Given the description of an element on the screen output the (x, y) to click on. 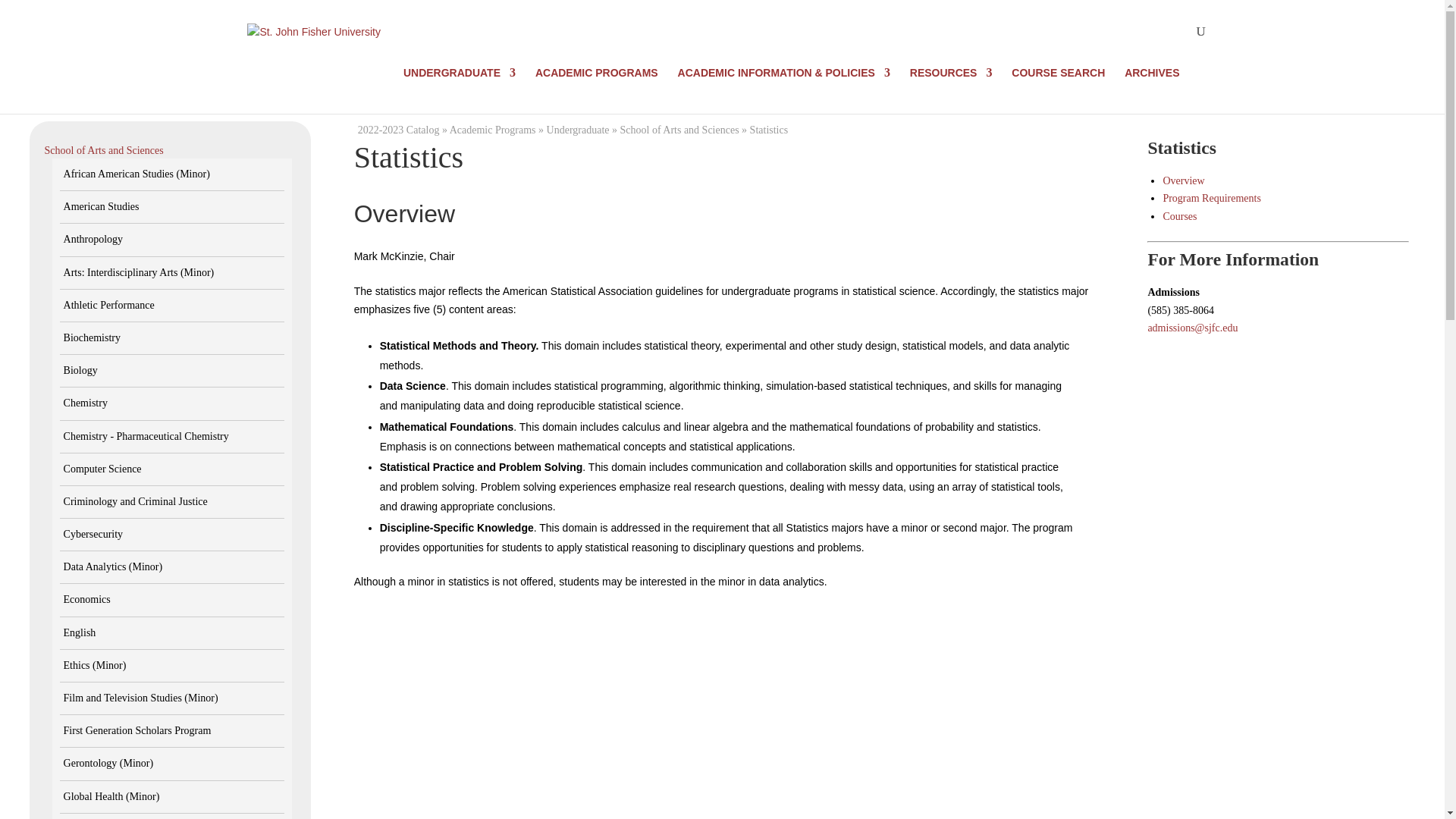
Criminology and Criminal Justice (136, 501)
RESOURCES (951, 85)
ARCHIVES (1151, 85)
COURSE SEARCH (1058, 85)
American Studies (101, 206)
School of Arts and Sciences (104, 150)
Cybersecurity (93, 533)
Athletic Performance (109, 305)
Anthropology (93, 238)
ACADEMIC PROGRAMS (596, 85)
